Given the description of an element on the screen output the (x, y) to click on. 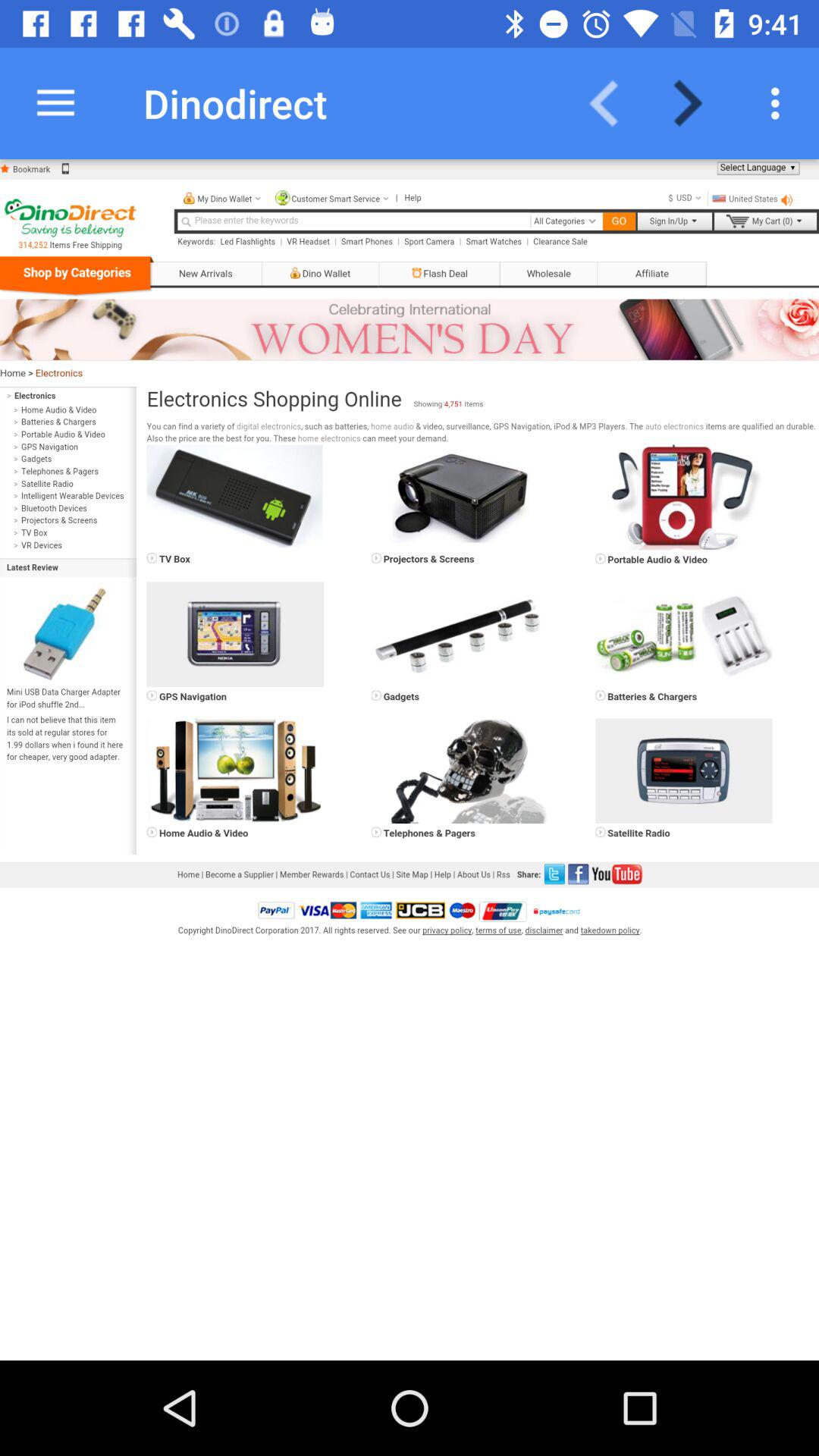
go to next page (697, 103)
